Given the description of an element on the screen output the (x, y) to click on. 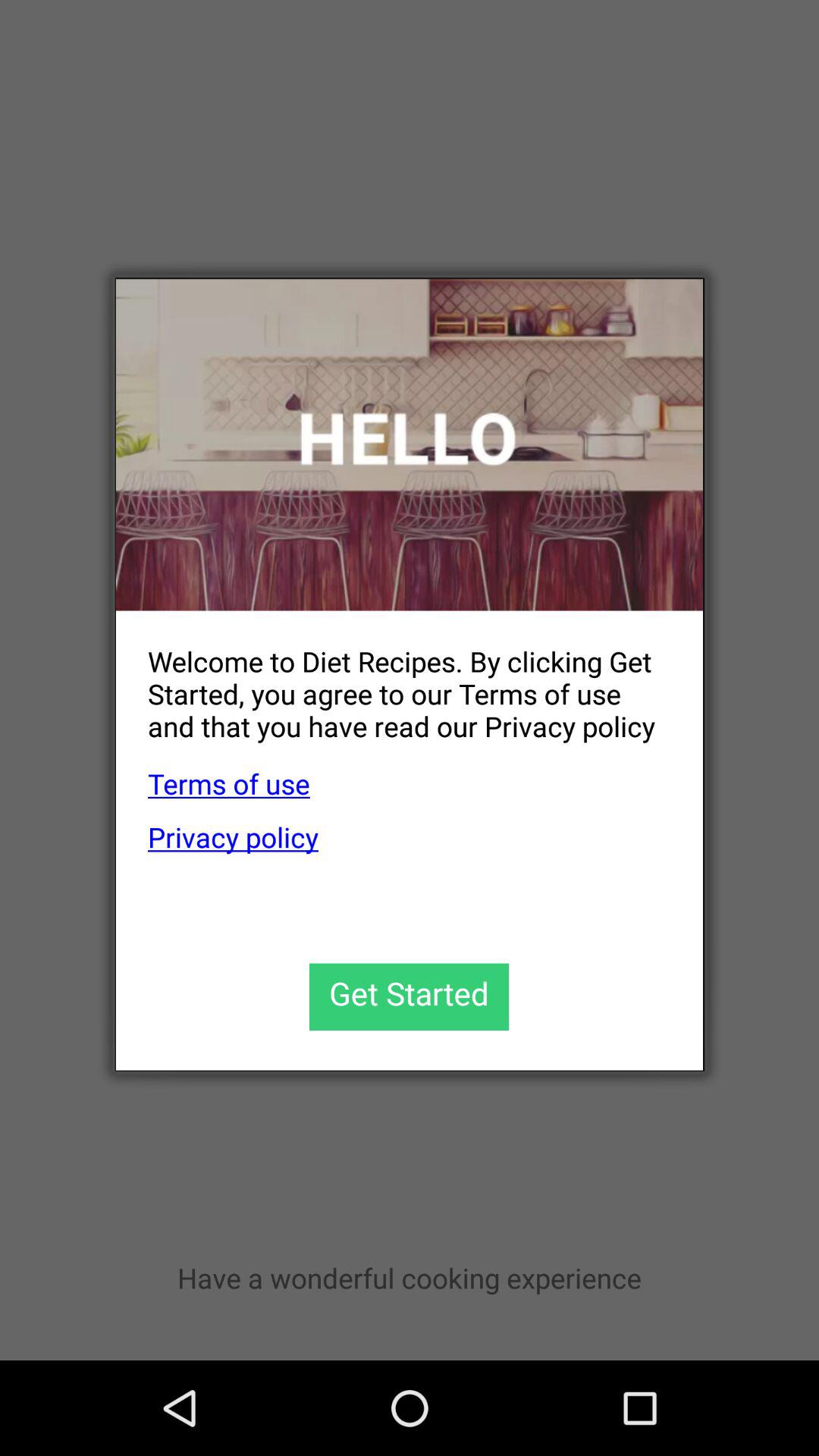
launch item below privacy policy item (409, 996)
